Given the description of an element on the screen output the (x, y) to click on. 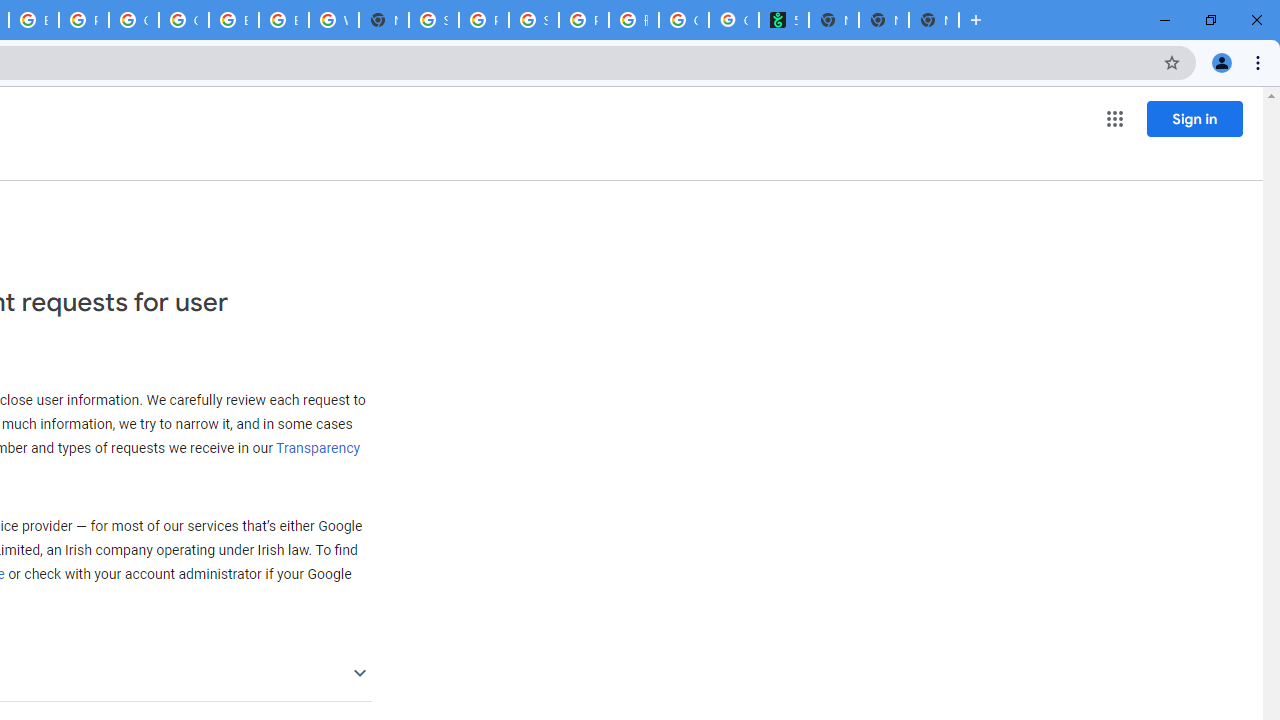
Google Cloud Platform (133, 20)
Browse Chrome as a guest - Computer - Google Chrome Help (233, 20)
Google Cloud Platform (183, 20)
